Given the description of an element on the screen output the (x, y) to click on. 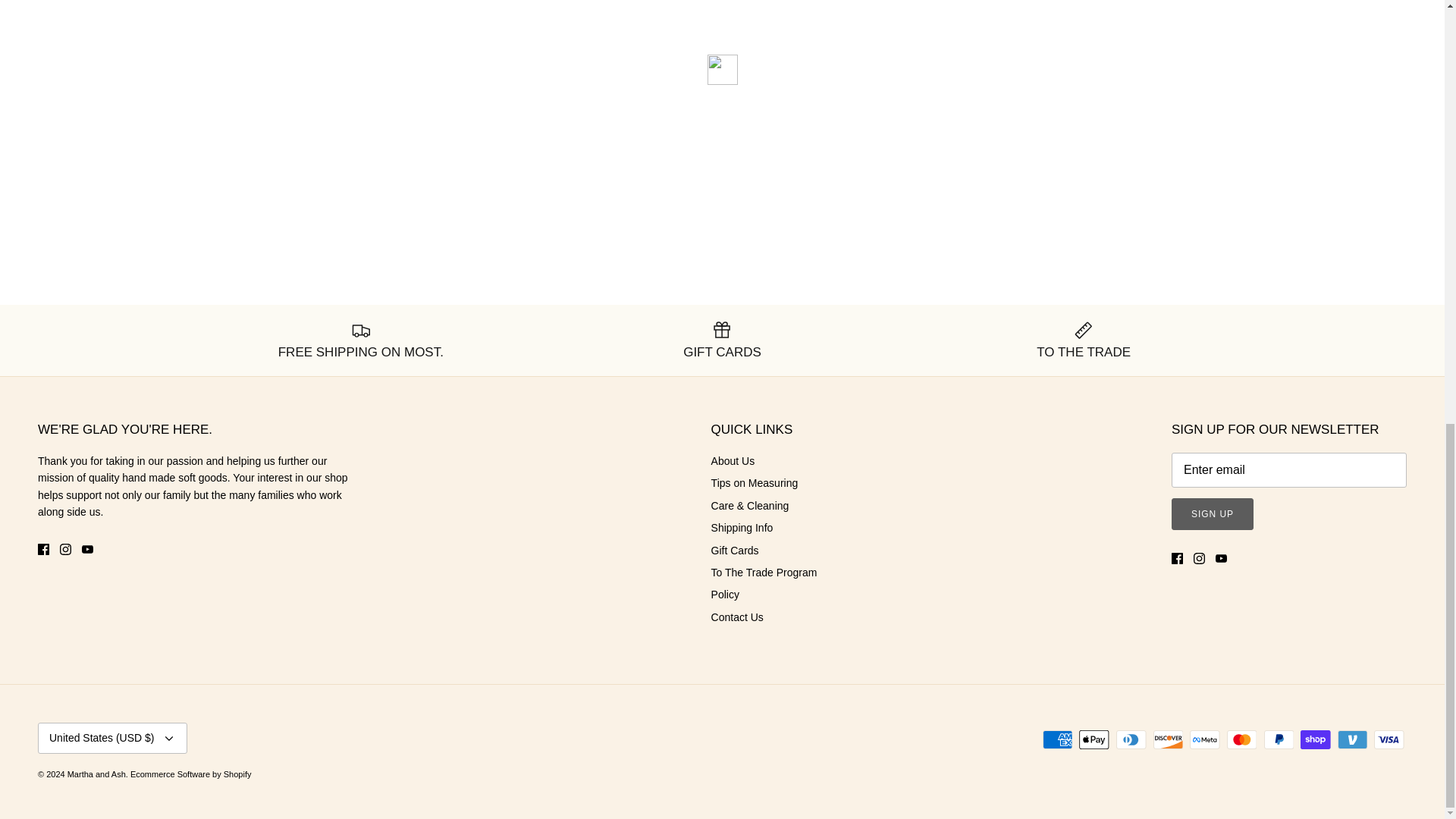
Discover (1168, 739)
Instagram (65, 548)
Facebook (1177, 558)
Youtube (1221, 558)
Apple Pay (1093, 739)
American Express (1057, 739)
Instagram (1199, 558)
Facebook (43, 548)
Diners Club (1130, 739)
Youtube (87, 548)
